Given the description of an element on the screen output the (x, y) to click on. 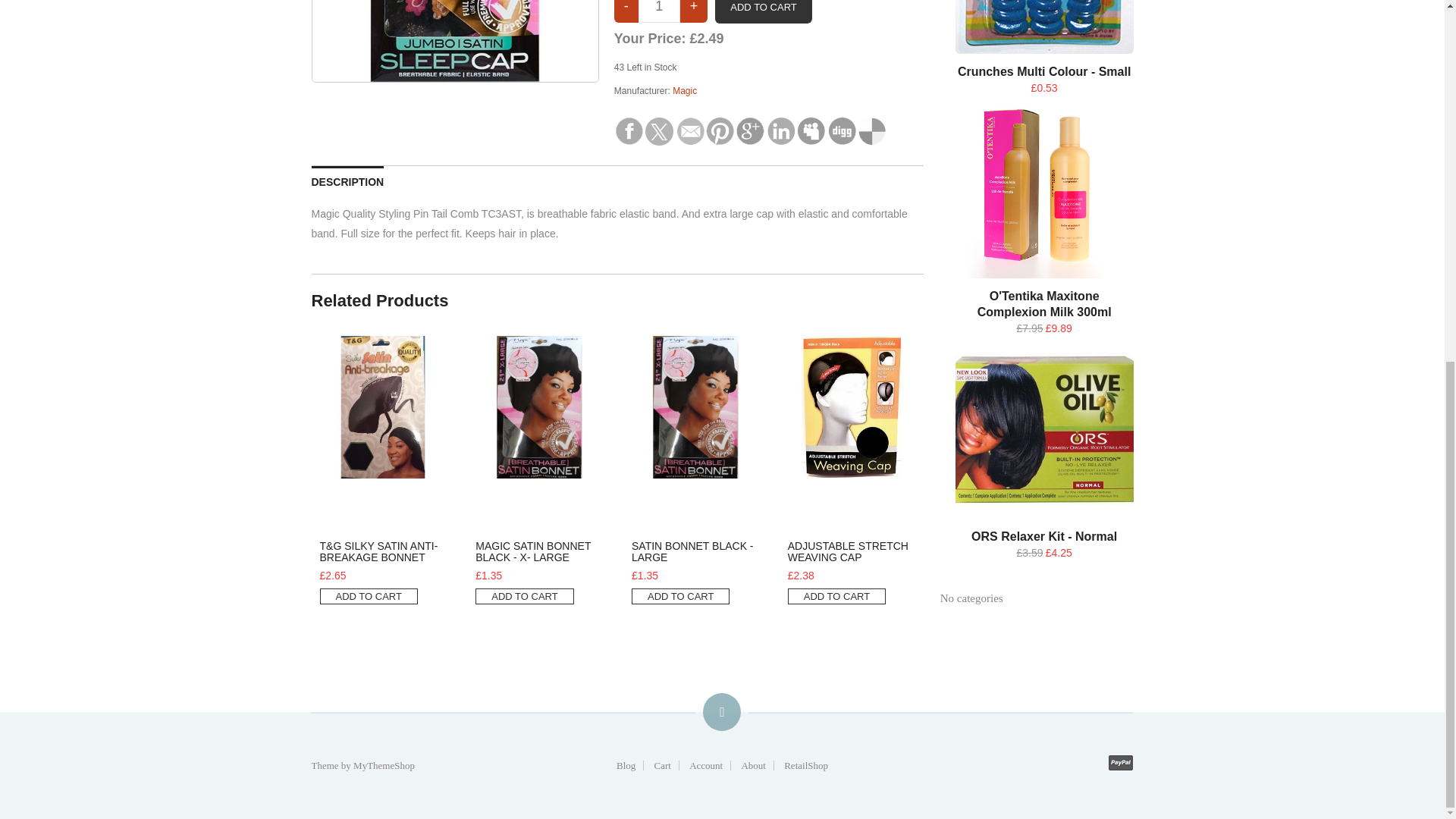
1 (659, 11)
PayPal (1120, 762)
ADD TO CART (762, 12)
- (626, 11)
